Given the description of an element on the screen output the (x, y) to click on. 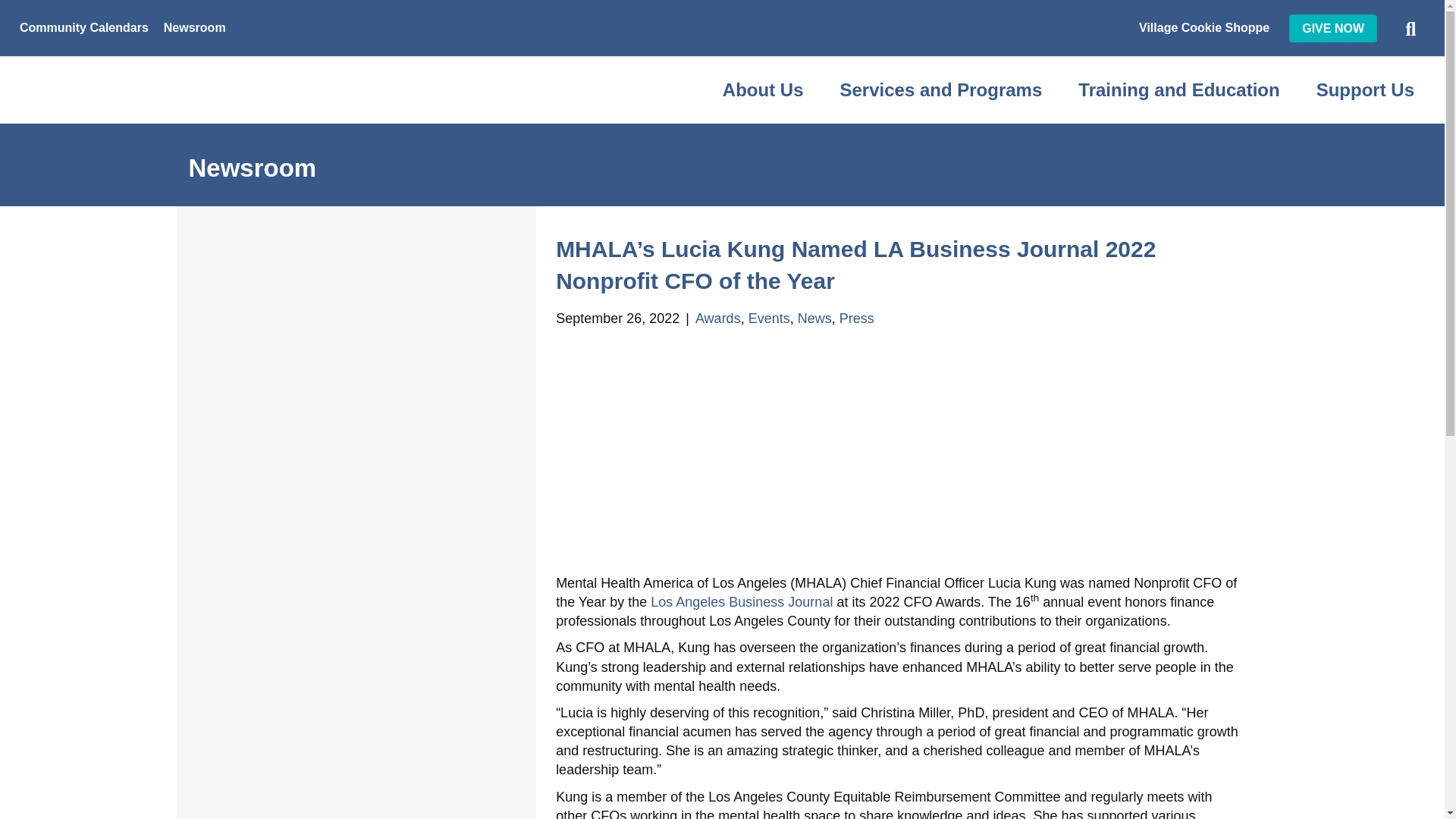
Village Cookie Shoppe (1203, 28)
About Us (763, 89)
Community Calendars (83, 28)
Training and Education (1178, 89)
GIVE NOW (1332, 28)
Newsroom (193, 28)
Support Us (1365, 89)
Services and Programs (941, 89)
